Given the description of an element on the screen output the (x, y) to click on. 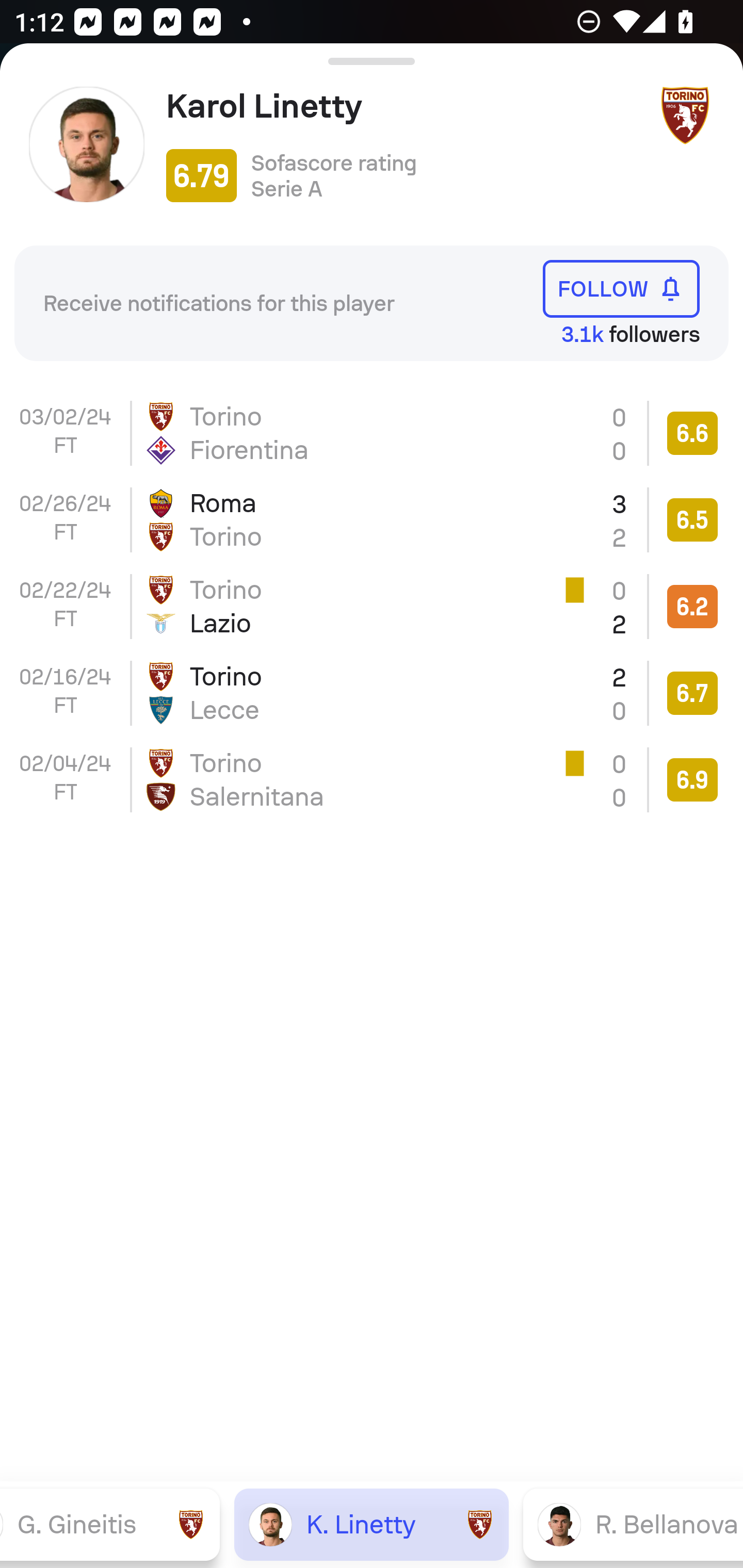
Karol Linetty (403, 105)
FOLLOW (621, 289)
03/02/24 FT Torino 0 Fiorentina 0 6.6 (371, 433)
02/26/24 FT Roma 3 Torino 2 6.5 (371, 519)
02/22/24 FT Torino 0 Lazio 2 6.2 (371, 605)
02/16/24 FT Torino 2 Lecce 0 6.7 (371, 692)
02/04/24 FT Torino 0 Salernitana 0 6.9 (371, 779)
G. Gineitis (109, 1524)
K. Linetty (371, 1524)
R. Bellanova (633, 1524)
